Given the description of an element on the screen output the (x, y) to click on. 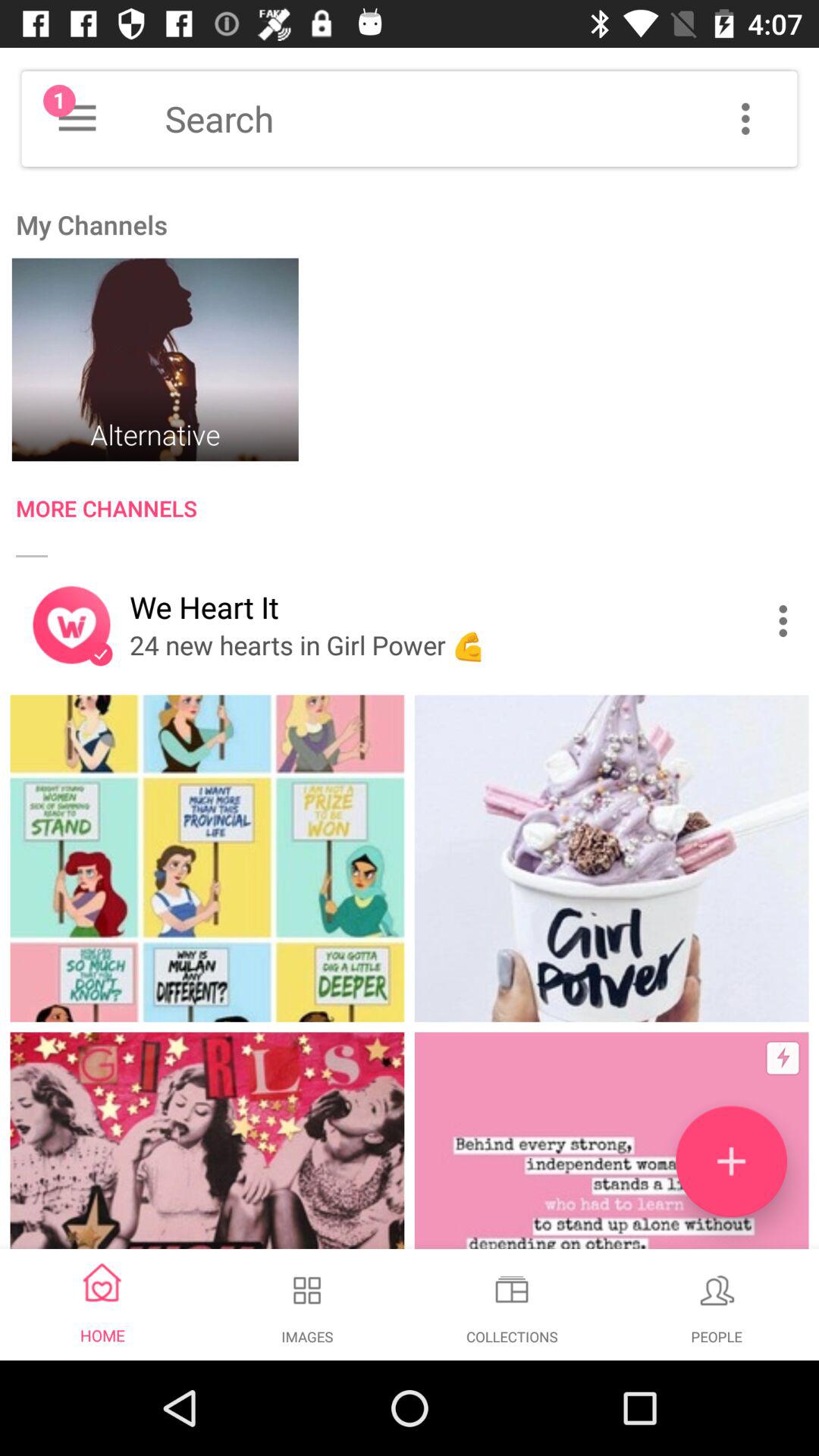
search (480, 118)
